Given the description of an element on the screen output the (x, y) to click on. 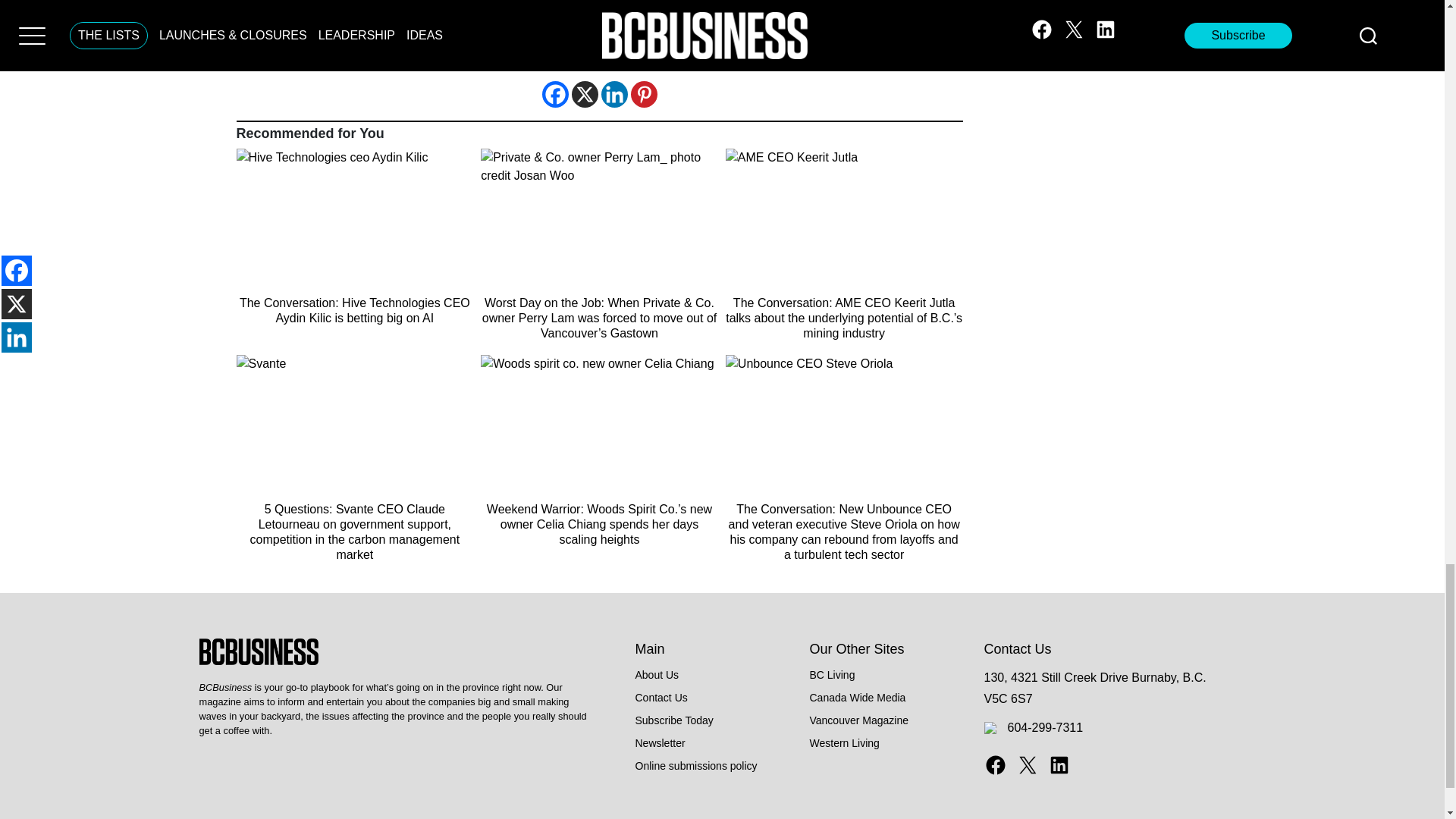
Pinterest (644, 94)
Facebook (554, 94)
Linkedin (613, 94)
X (585, 94)
